Given the description of an element on the screen output the (x, y) to click on. 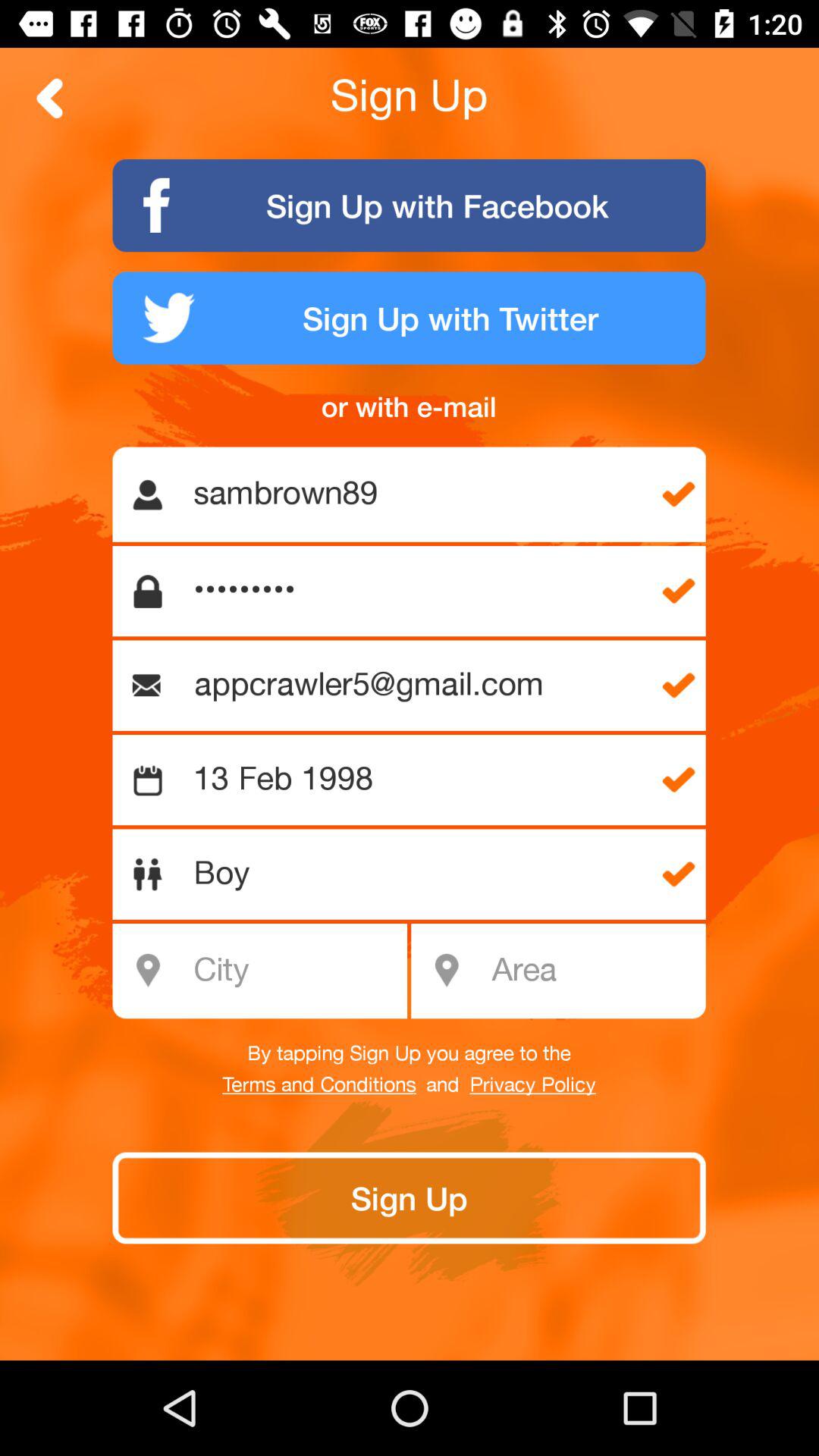
turn on the item next to the and item (319, 1085)
